Given the description of an element on the screen output the (x, y) to click on. 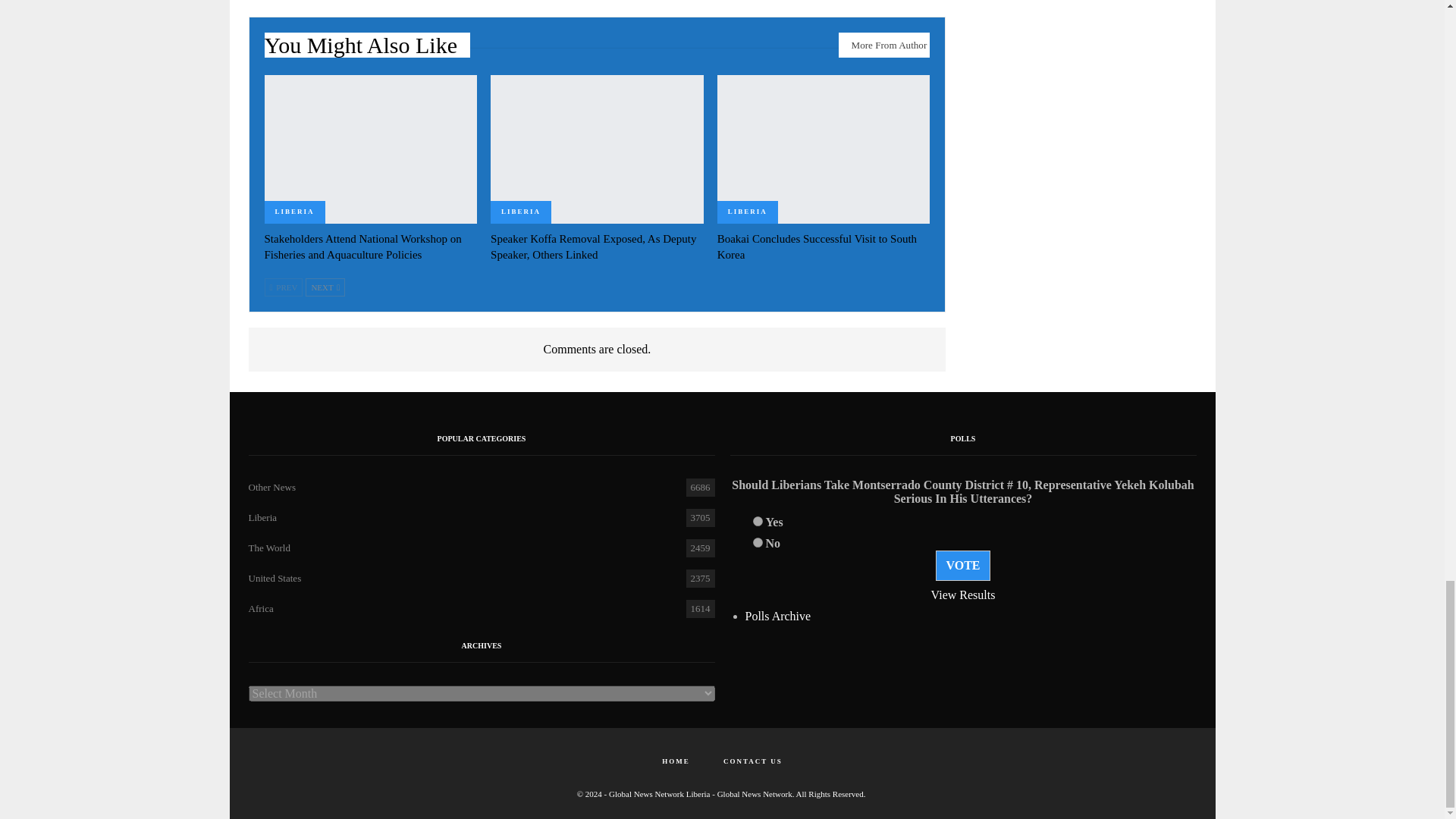
More From Author (884, 43)
View Results Of This Poll (963, 594)
Previous (282, 287)
Boakai Concludes Successful Visit to South Korea (823, 148)
376 (756, 521)
You Might Also Like (366, 48)
LIBERIA (293, 211)
   Vote    (963, 565)
Boakai Concludes Successful Visit to South Korea (817, 246)
377 (756, 542)
LIBERIA (520, 211)
Next (325, 287)
